Given the description of an element on the screen output the (x, y) to click on. 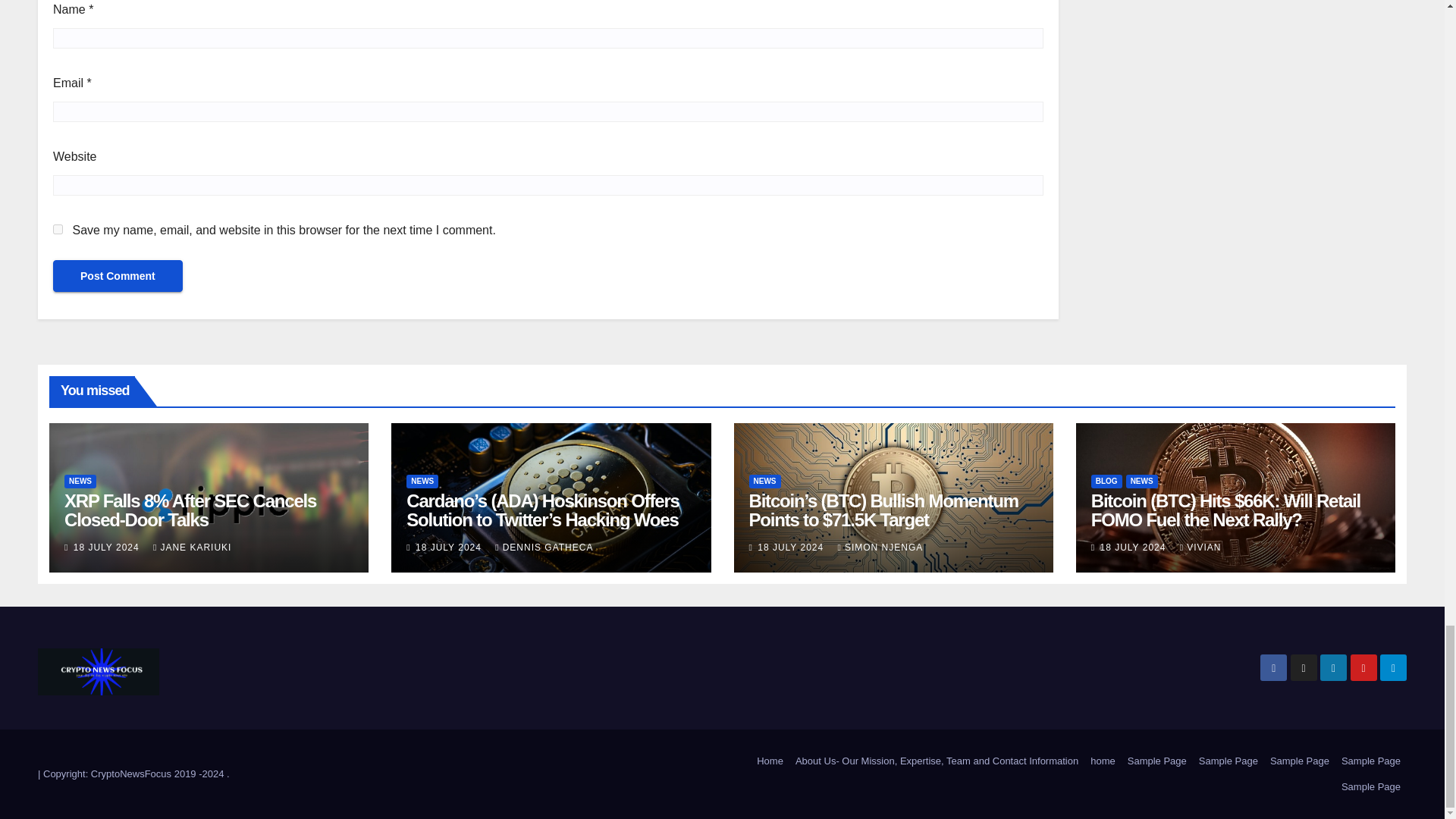
Post Comment (117, 275)
yes (57, 229)
Home (770, 760)
